Given the description of an element on the screen output the (x, y) to click on. 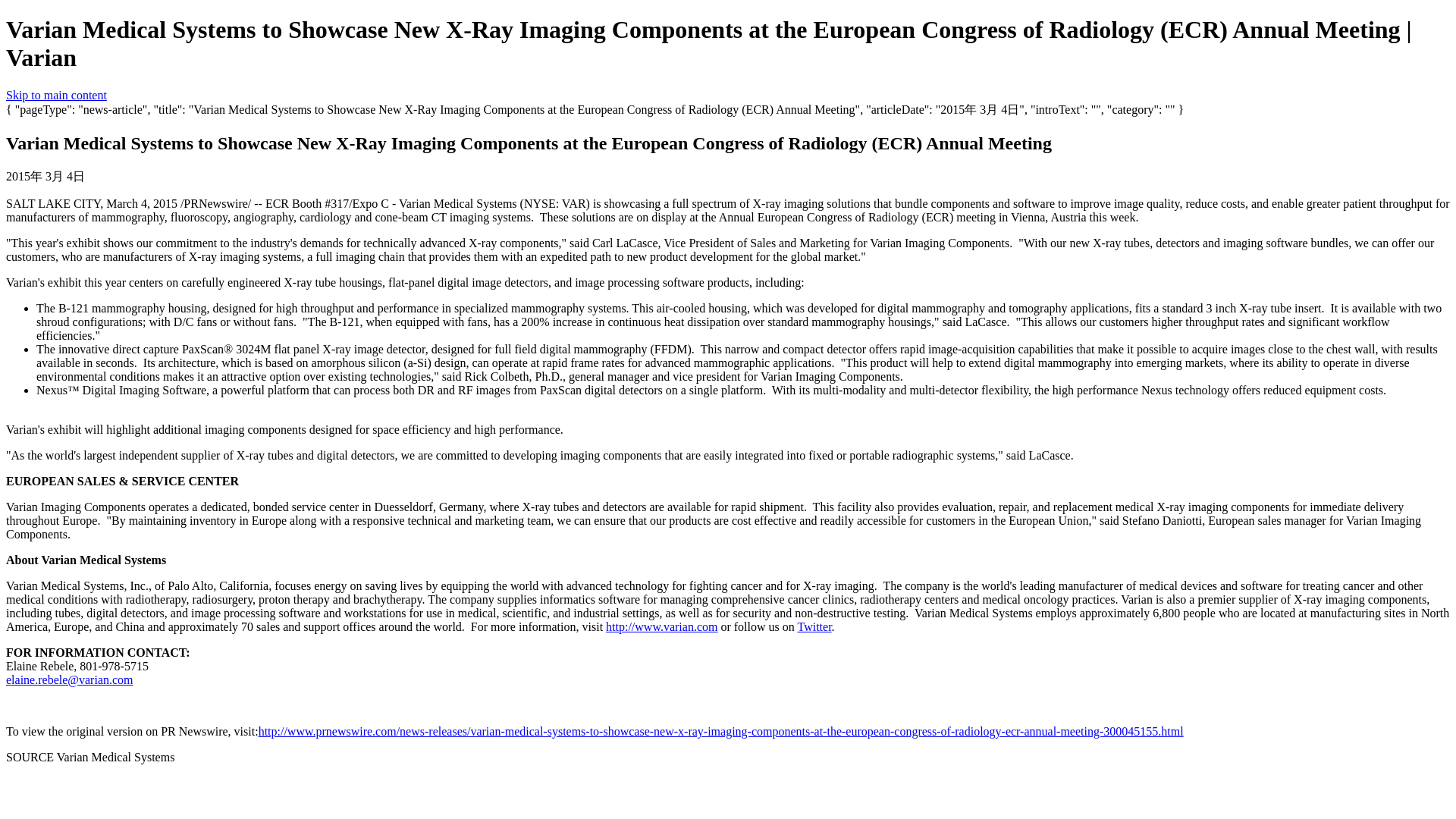
Twitter (814, 626)
Skip to main content (55, 94)
